Given the description of an element on the screen output the (x, y) to click on. 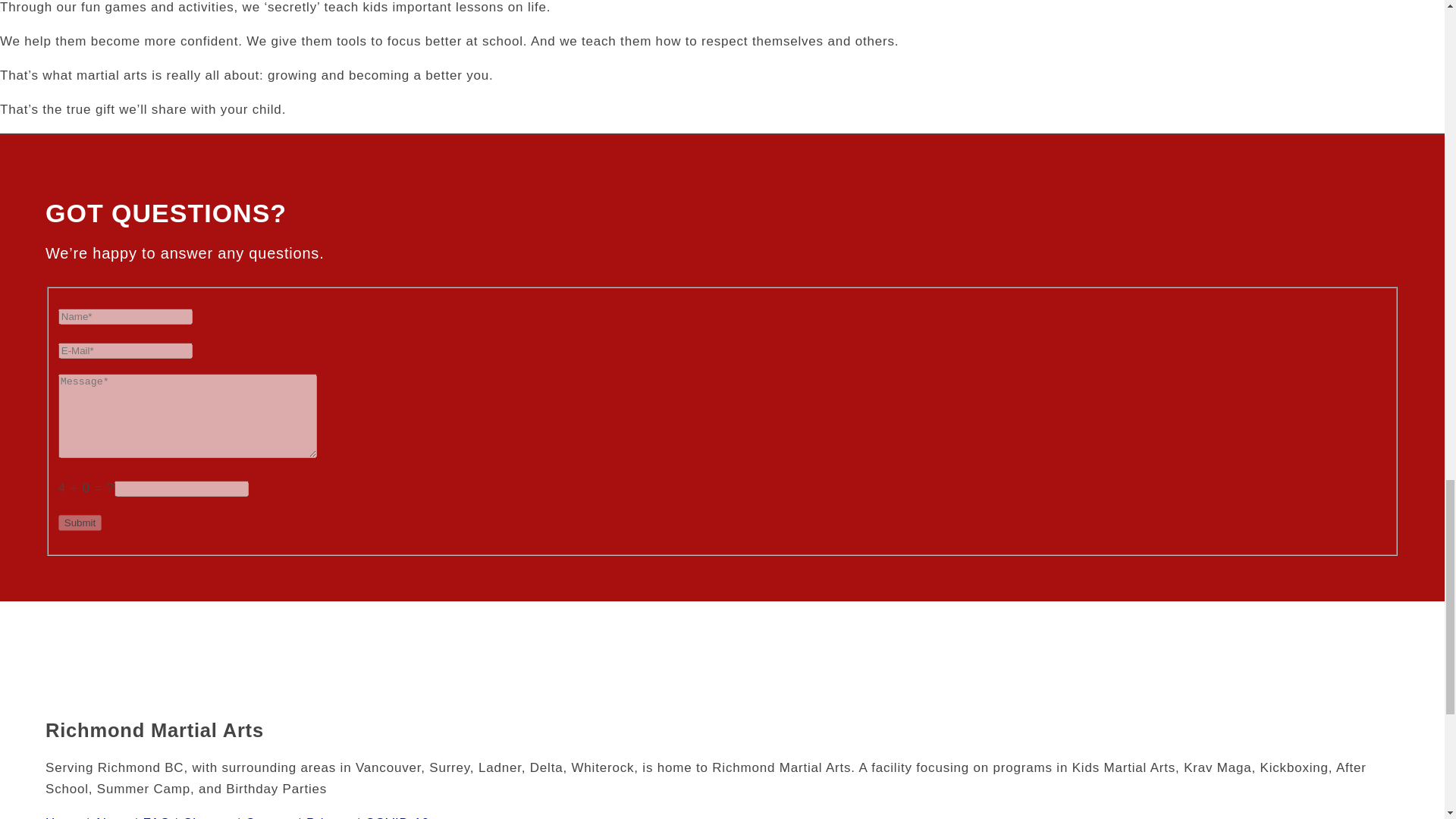
Contact (270, 817)
Submit (79, 522)
Submit (79, 522)
About (112, 817)
FAQ (156, 817)
Home (63, 817)
Privacy (328, 817)
Classes (207, 817)
COVID-19 (397, 817)
